Given the description of an element on the screen output the (x, y) to click on. 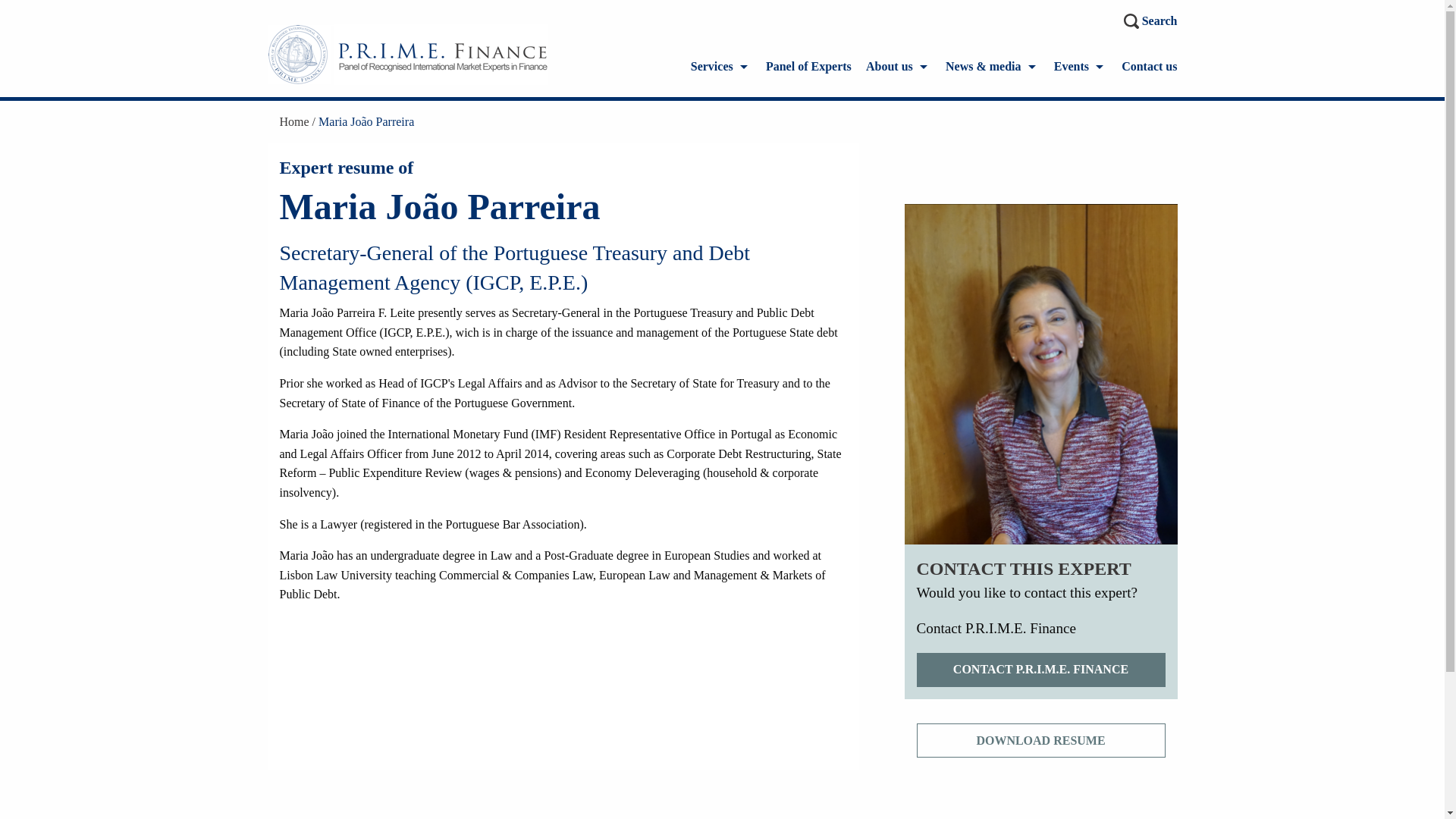
Panel of Experts (808, 66)
Home (298, 121)
The products and services from P.R.I.M.E. Finance (720, 66)
Services (720, 66)
Contact us (1148, 66)
Panel of Experts (808, 66)
DOWNLOAD RESUME (1039, 740)
About us (898, 66)
Search (1150, 21)
About P.R.I.M.E. Finance (898, 66)
CONTACT P.R.I.M.E. FINANCE (1039, 669)
Events (1080, 66)
